Given the description of an element on the screen output the (x, y) to click on. 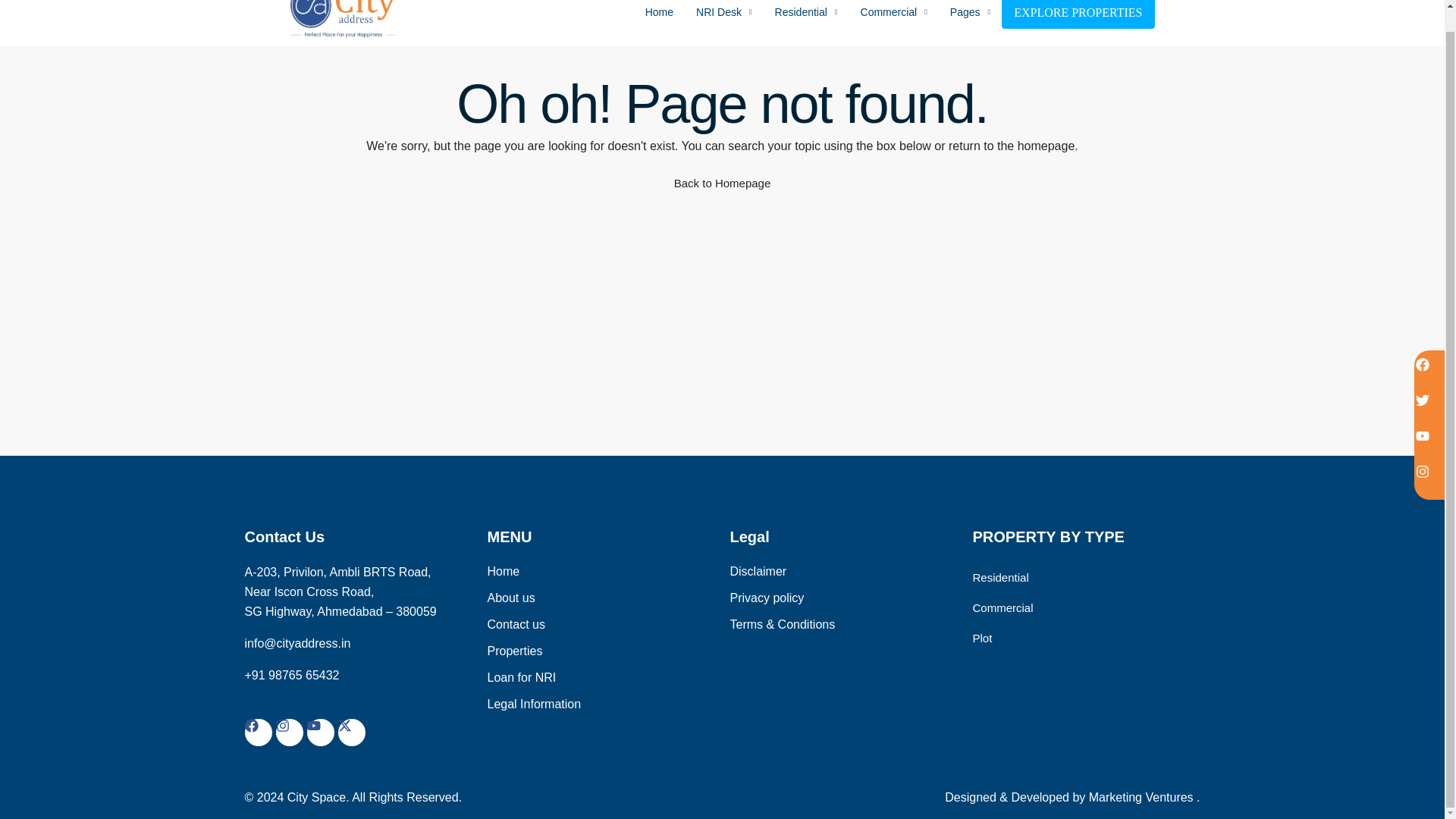
EXPLORE PROPERTIES (1077, 14)
Residential (805, 22)
Commercial (893, 22)
Pages (970, 22)
Back to Homepage (722, 183)
Home (658, 22)
NRI Desk (723, 22)
